Given the description of an element on the screen output the (x, y) to click on. 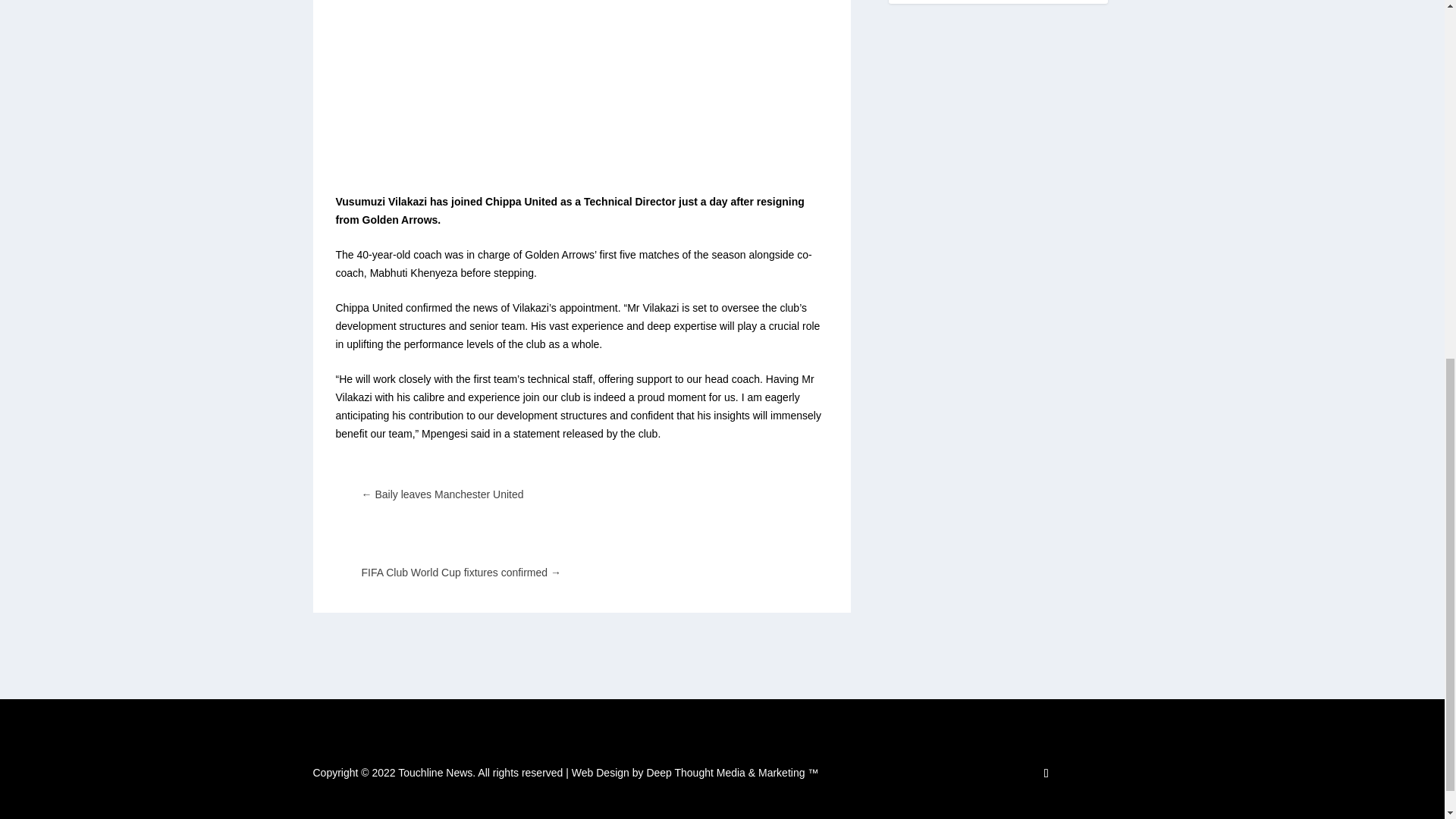
Follow on Twitter (1045, 773)
Digital Marketing Company Cape Town (695, 772)
